Given the description of an element on the screen output the (x, y) to click on. 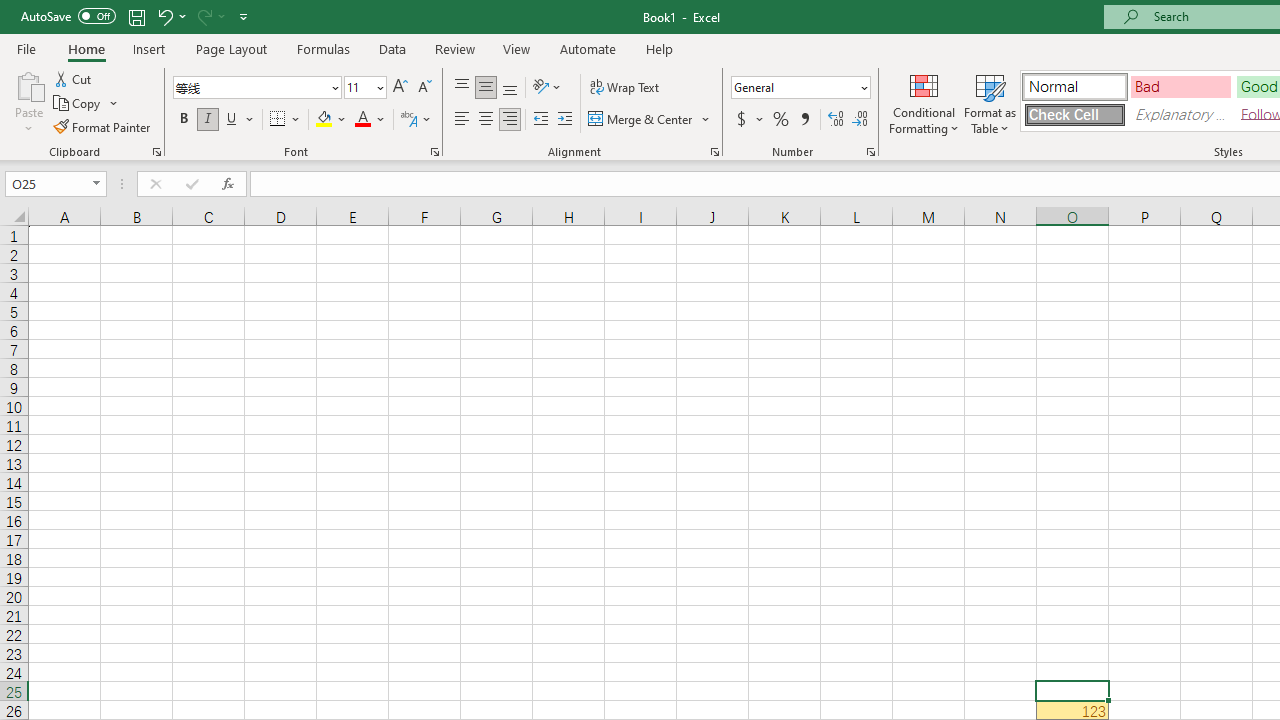
Automate (588, 48)
Check Cell (1074, 114)
Align Right (509, 119)
Fill Color (331, 119)
Format as Table (990, 102)
Accounting Number Format (749, 119)
Merge & Center (649, 119)
Format Cell Alignment (714, 151)
Explanatory Text (1180, 114)
Number Format (794, 87)
